Given the description of an element on the screen output the (x, y) to click on. 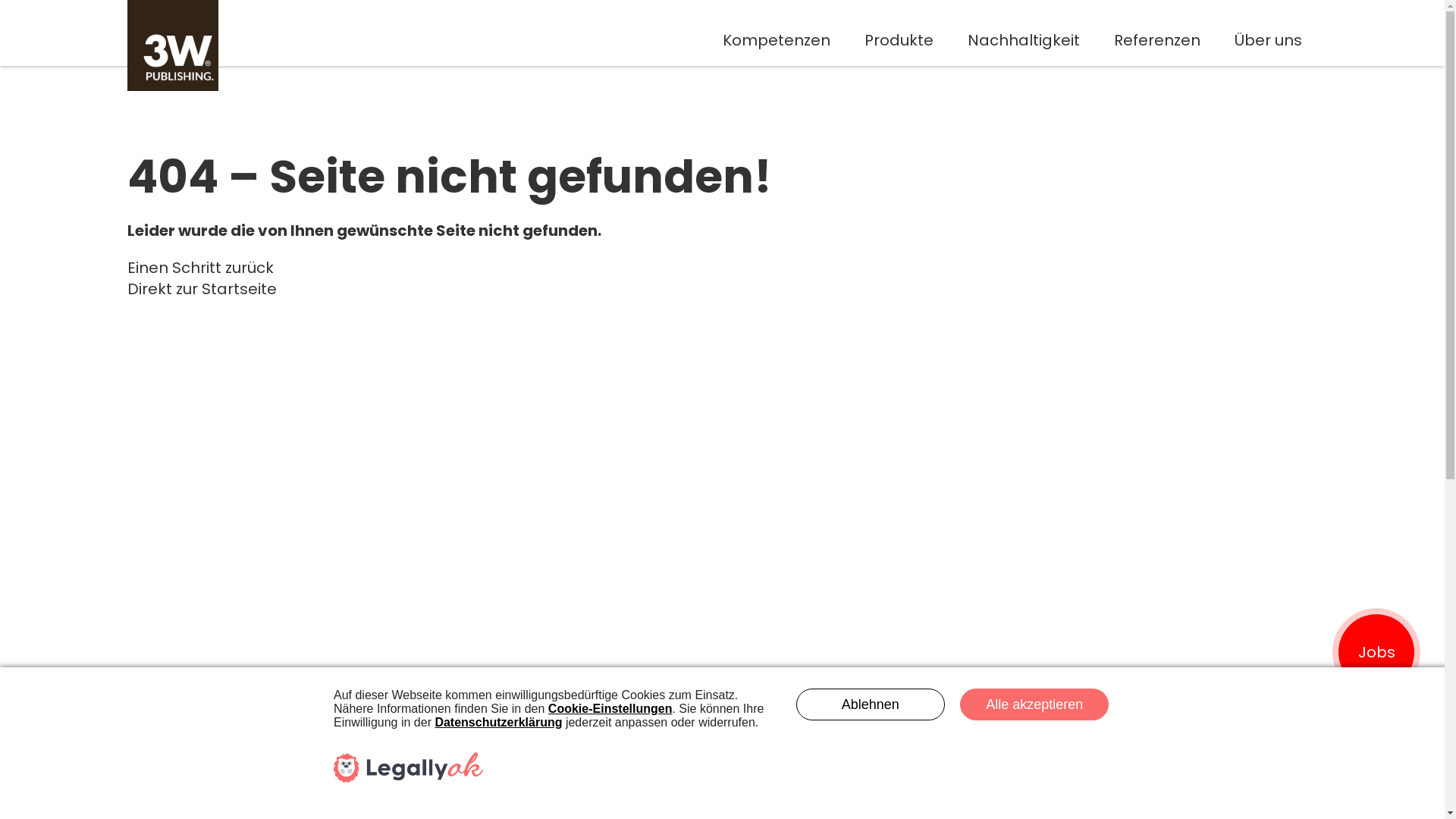
Kompetenzen Element type: text (776, 39)
Referenzen Element type: text (1156, 39)
Nachhaltigkeit Element type: text (1023, 39)
Direkt zur Startseite Element type: text (201, 288)
Produkte Element type: text (898, 39)
